Given the description of an element on the screen output the (x, y) to click on. 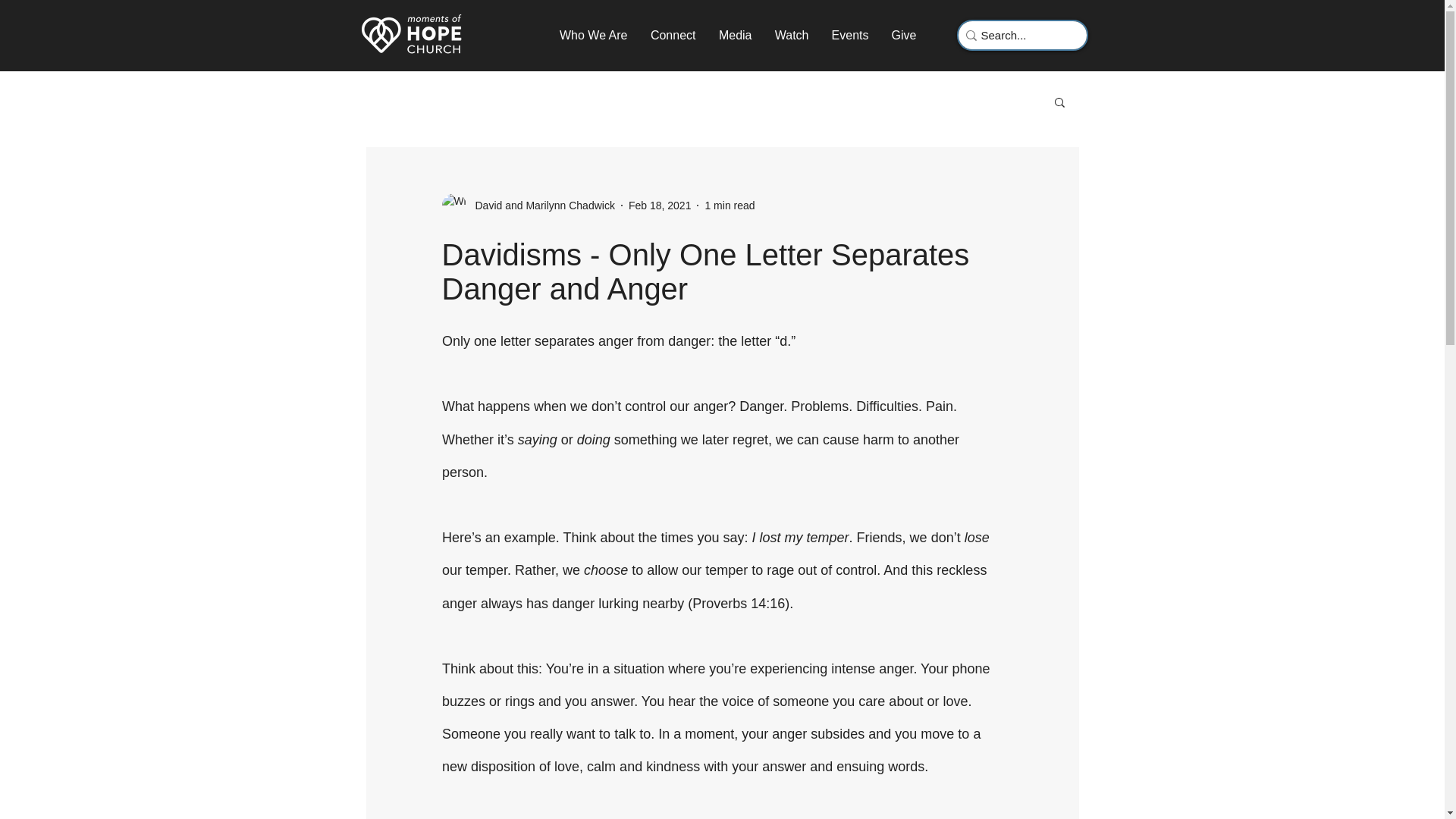
David and Marilynn Chadwick (539, 204)
1 min read (729, 204)
Feb 18, 2021 (659, 204)
